Given the description of an element on the screen output the (x, y) to click on. 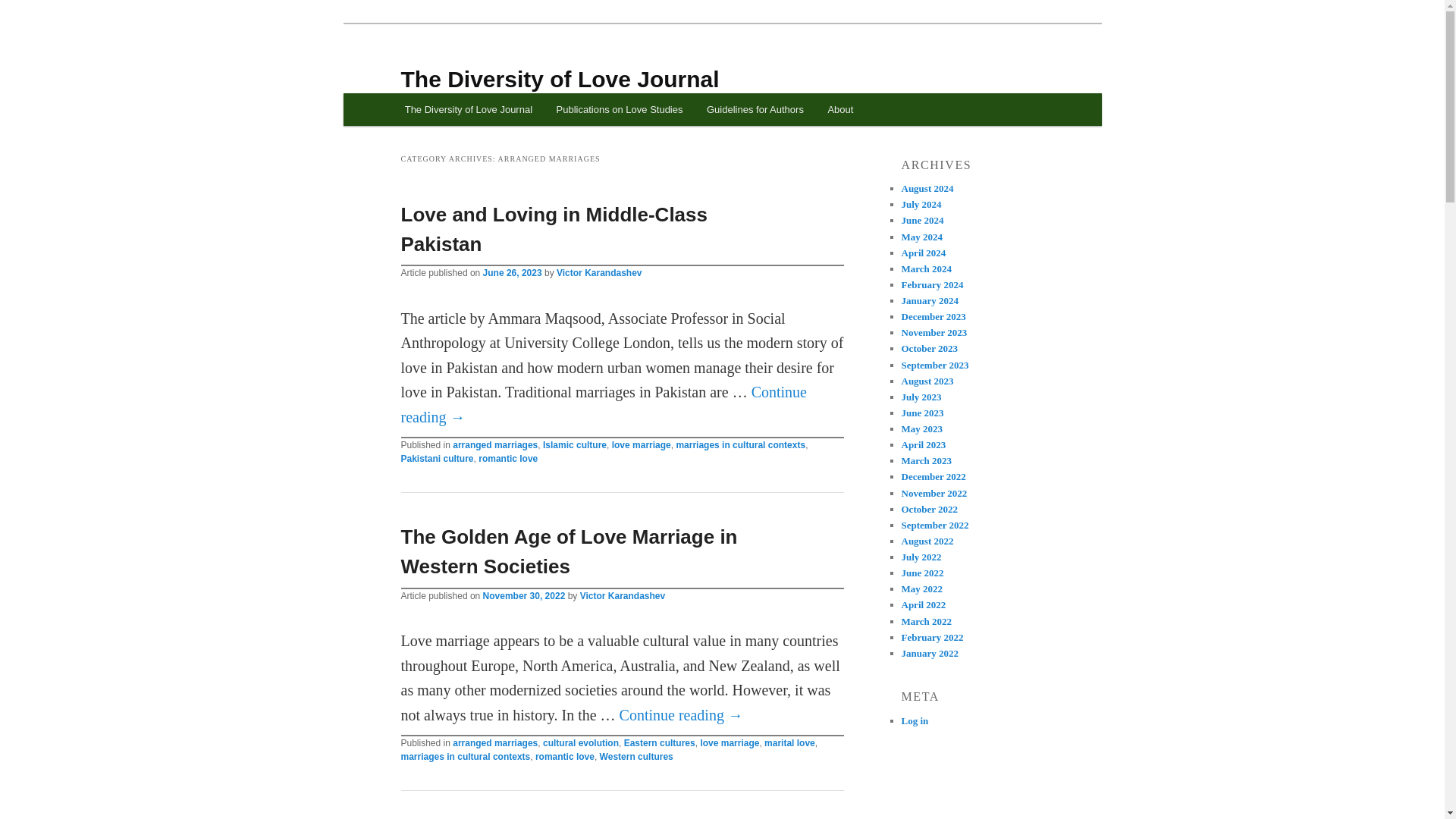
romantic love (508, 458)
The Diversity of Love Journal (559, 78)
About (839, 109)
10:41 pm (512, 272)
Love and Loving in Middle-Class Pakistan (553, 229)
Publications on Love Studies (619, 109)
10:00 am (524, 595)
arranged marriages (494, 742)
Victor Karandashev (599, 272)
The Diversity of Love Journal (468, 109)
